Given the description of an element on the screen output the (x, y) to click on. 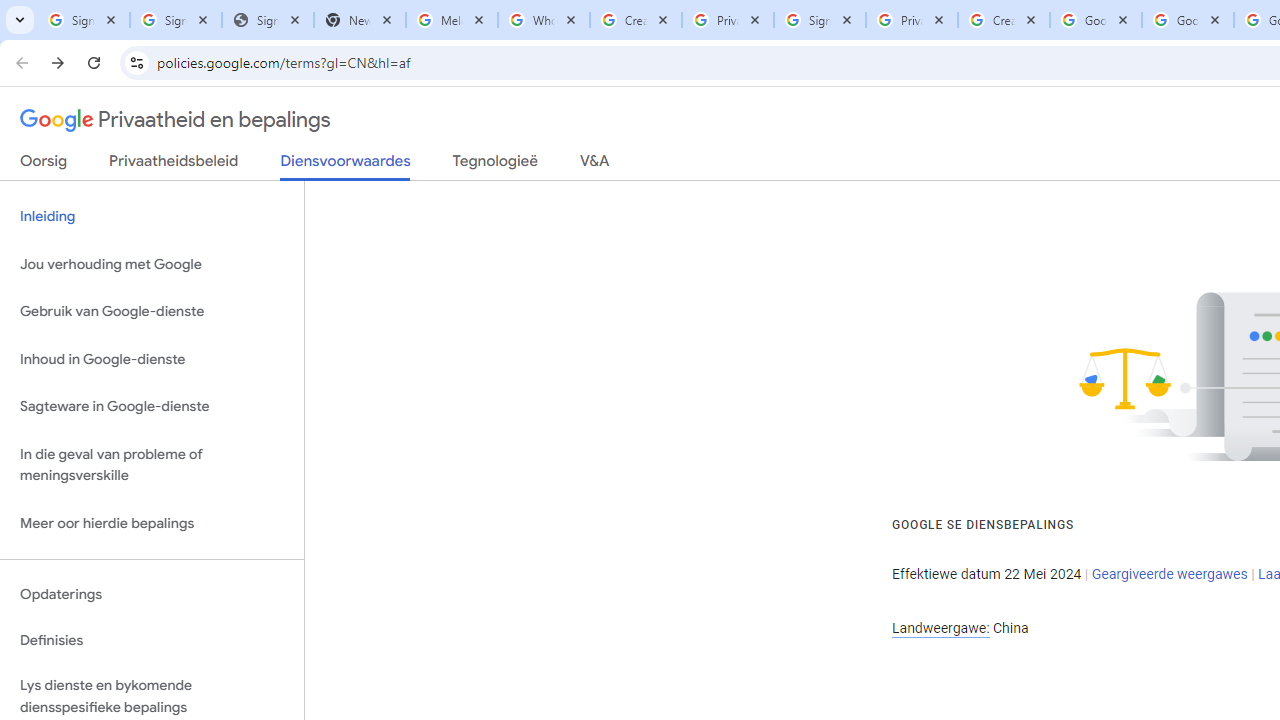
Sagteware in Google-dienste (152, 407)
Jou verhouding met Google (152, 263)
Create your Google Account (636, 20)
Create your Google Account (1003, 20)
V&A (594, 165)
Sign in - Google Accounts (175, 20)
Privaatheid en bepalings (175, 120)
Oorsig (43, 165)
